Given the description of an element on the screen output the (x, y) to click on. 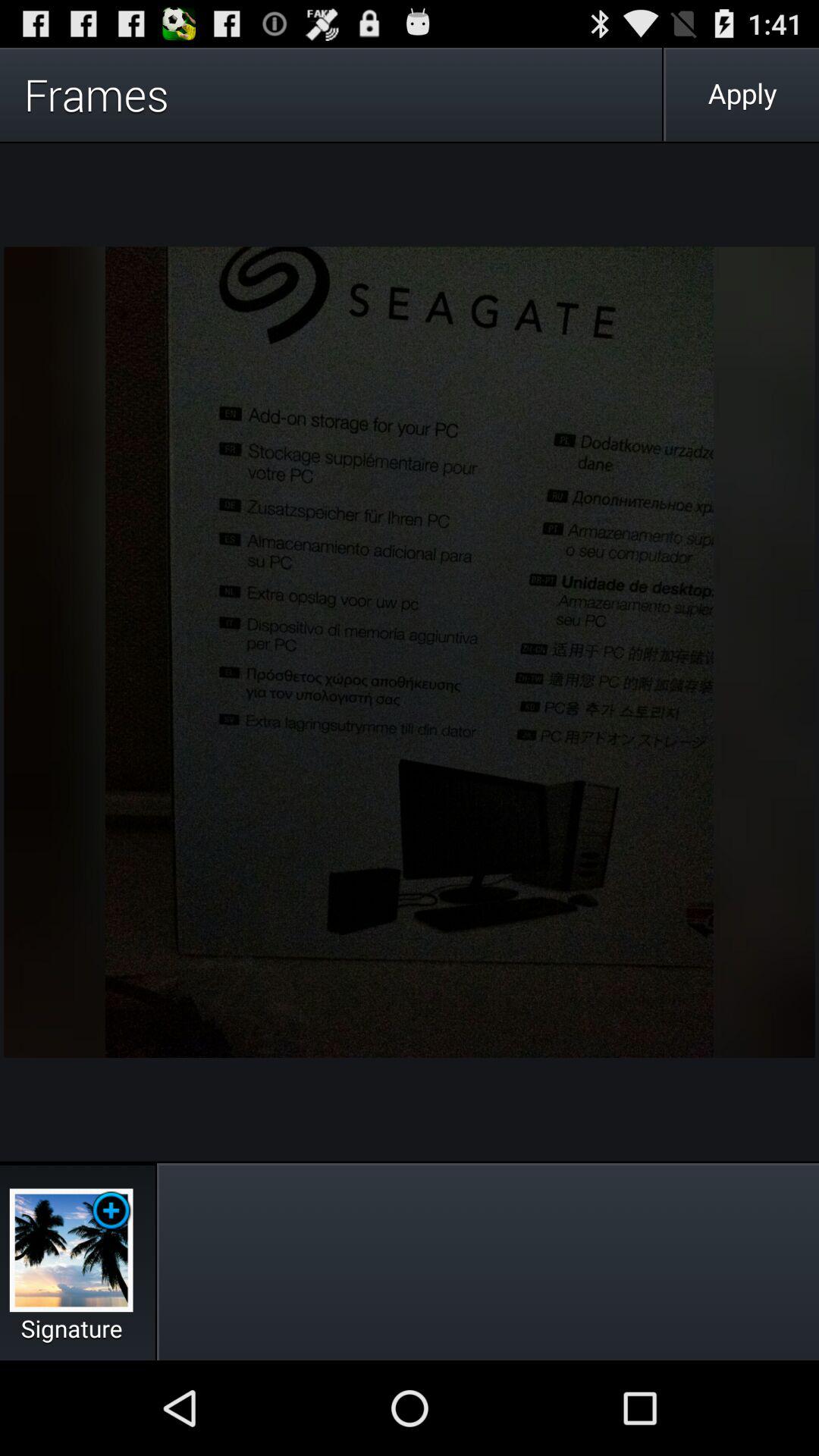
click the apply (742, 93)
